Given the description of an element on the screen output the (x, y) to click on. 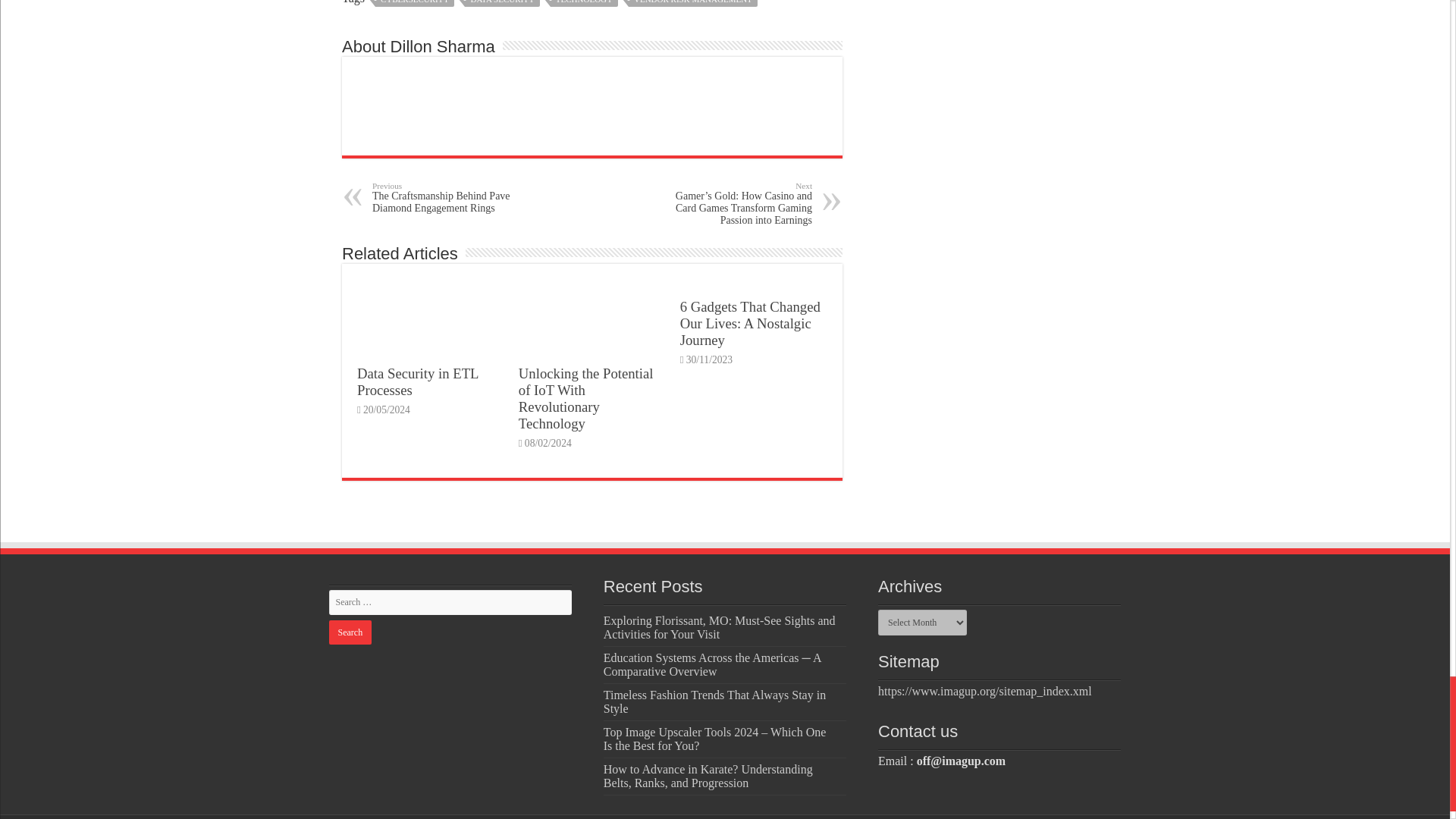
CYBERSECURITY (414, 3)
Search (350, 631)
DATA SECURITY (501, 3)
Search (350, 631)
